Given the description of an element on the screen output the (x, y) to click on. 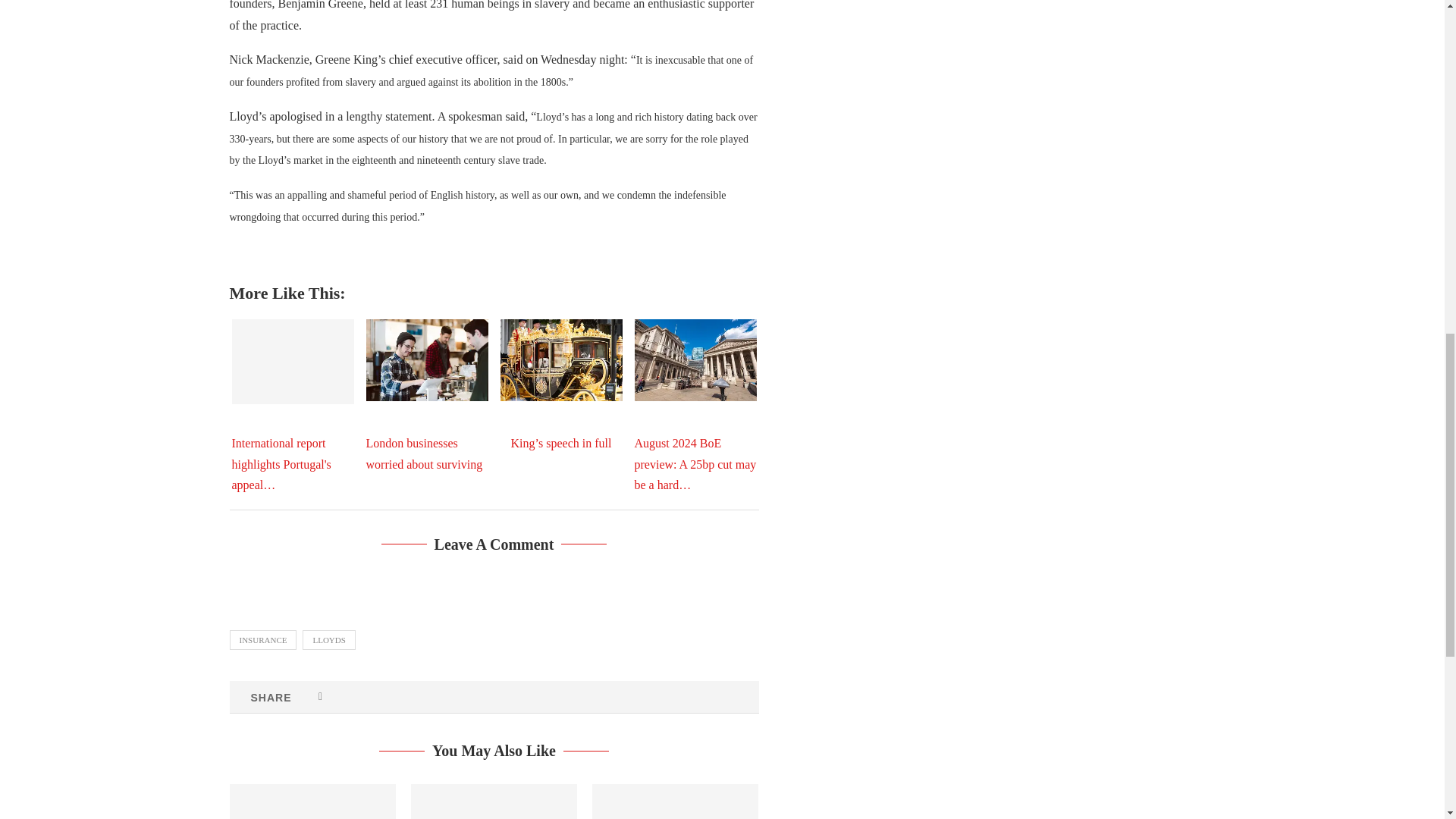
London businesses worried about surviving (426, 359)
